Given the description of an element on the screen output the (x, y) to click on. 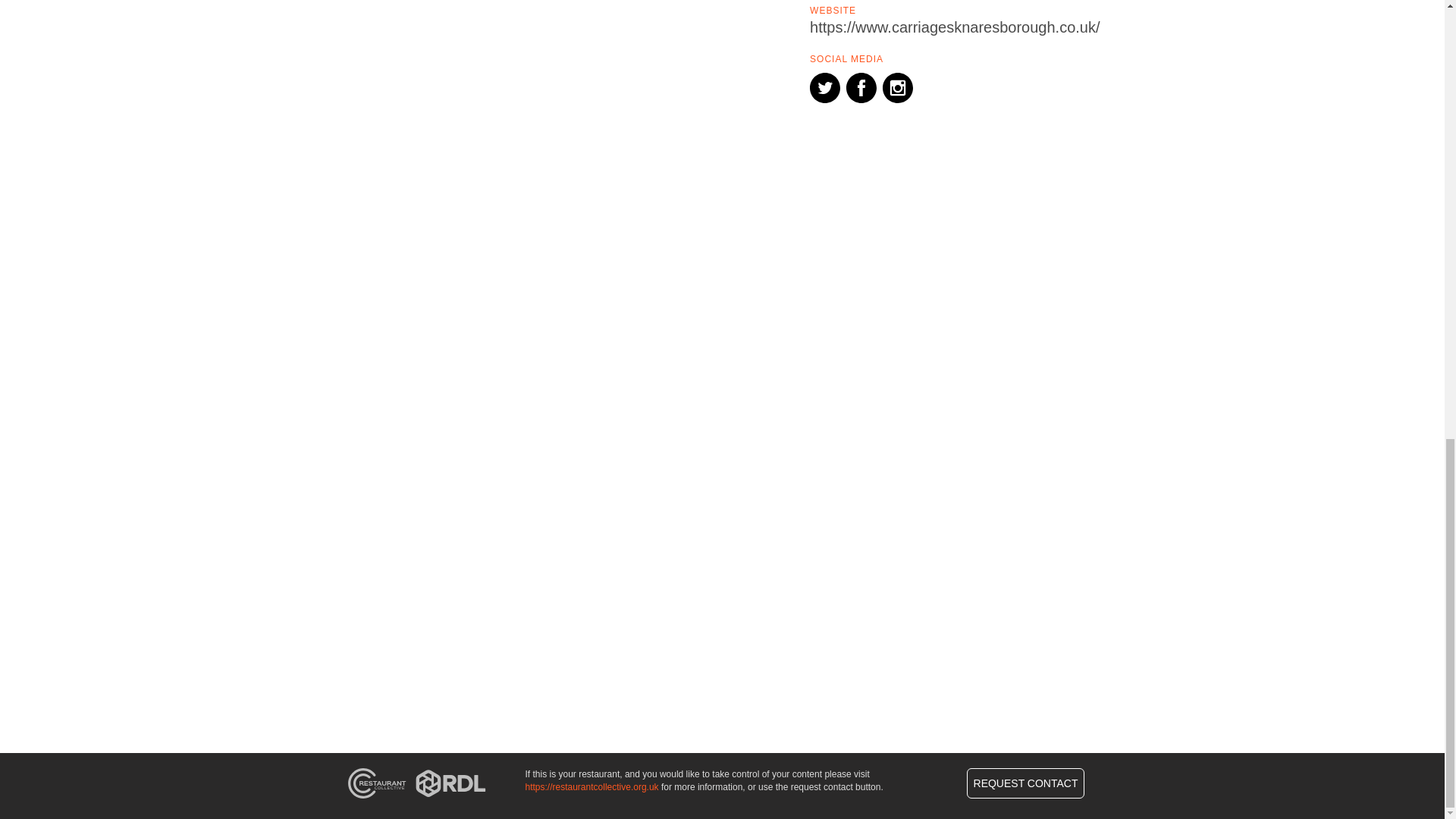
REQUEST CONTACT (1025, 783)
